Given the description of an element on the screen output the (x, y) to click on. 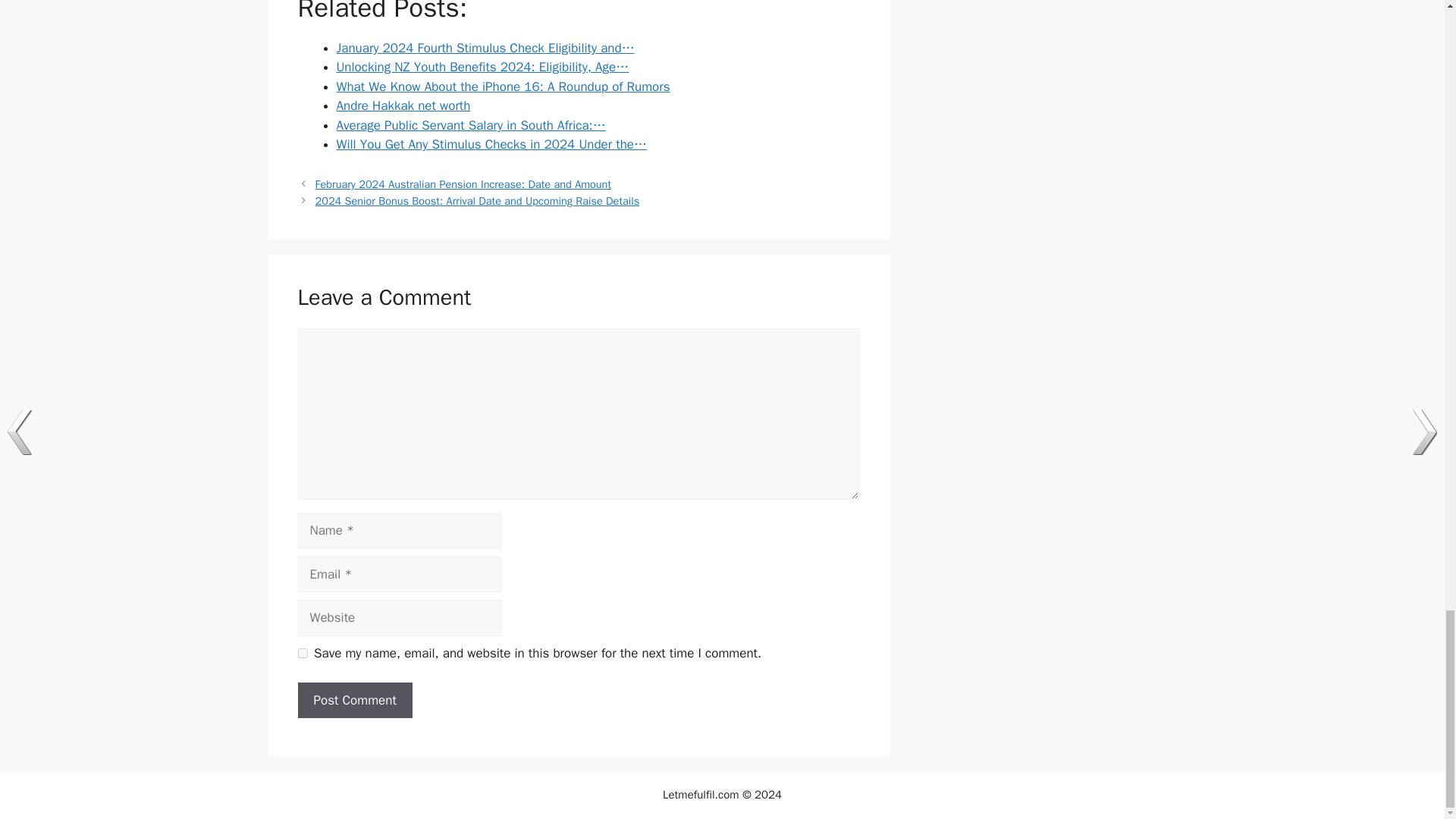
Post Comment (354, 700)
Post Comment (354, 700)
yes (302, 653)
February 2024 Australian Pension Increase: Date and Amount (463, 183)
Andre Hakkak net worth (403, 105)
What We Know About the iPhone 16: A Roundup of Rumors (502, 86)
